Given the description of an element on the screen output the (x, y) to click on. 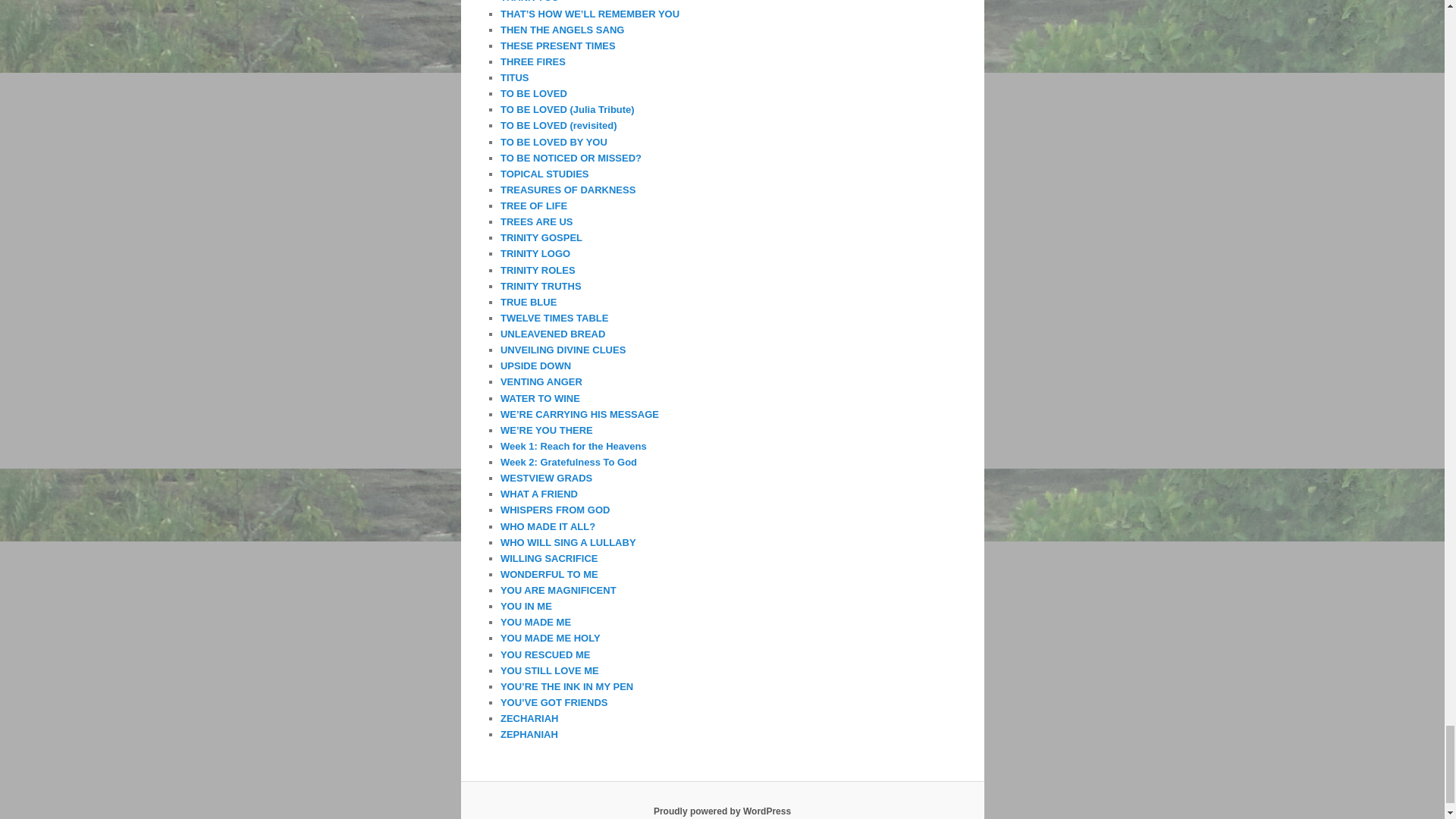
Semantic Personal Publishing Platform (721, 810)
